Given the description of an element on the screen output the (x, y) to click on. 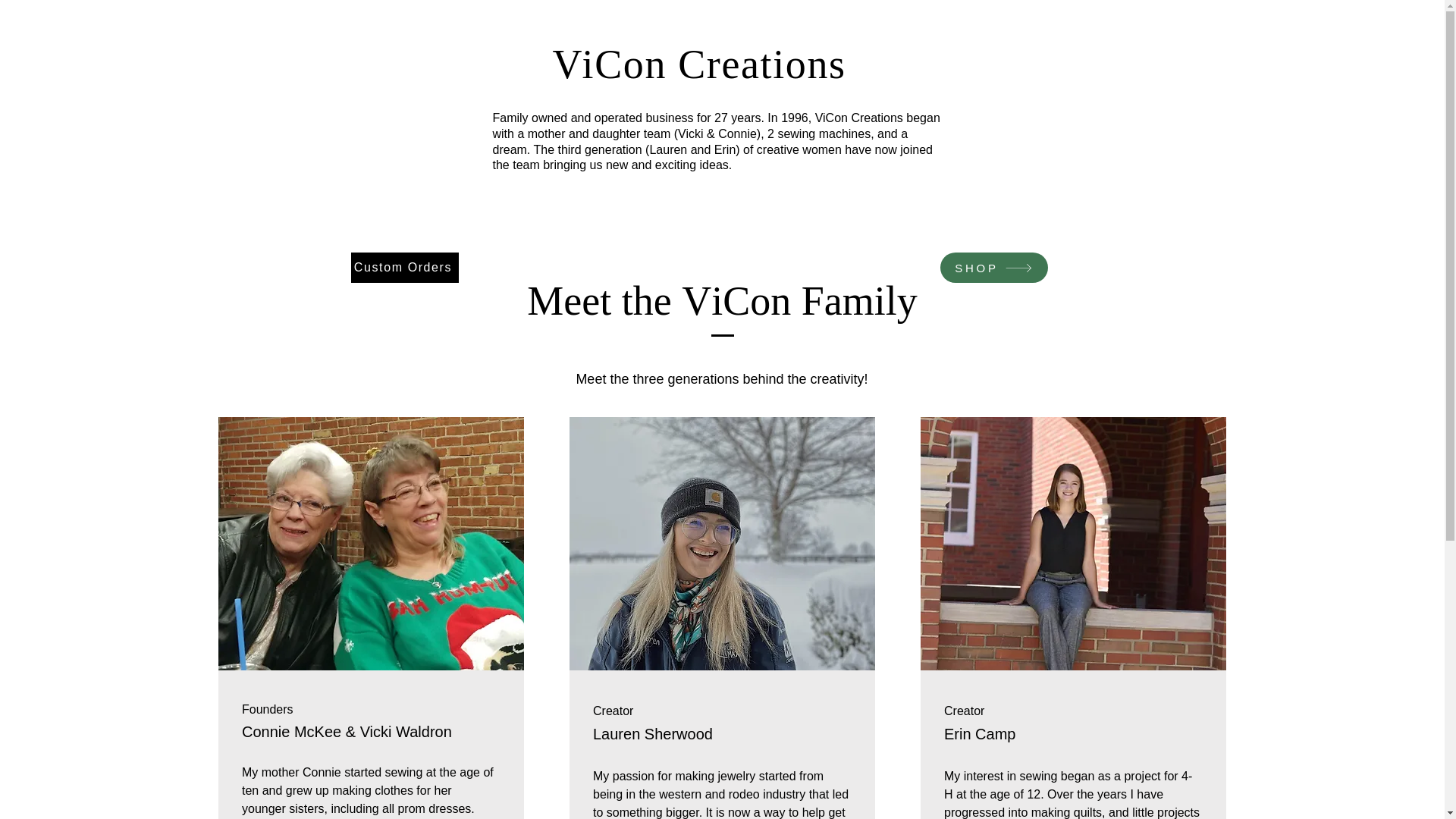
SHOP (994, 267)
Custom Orders (404, 267)
